Given the description of an element on the screen output the (x, y) to click on. 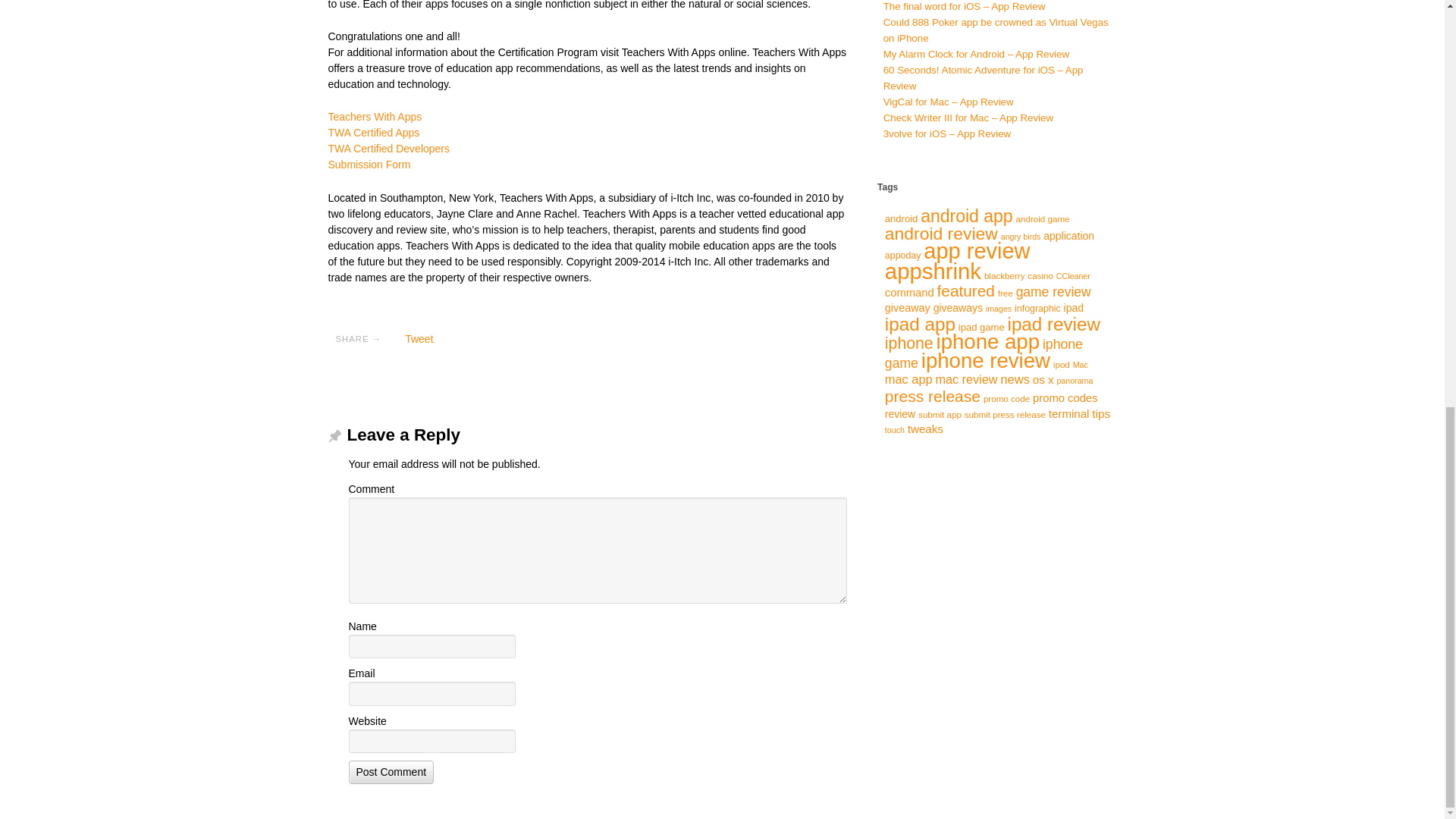
TWA Certified Developers (388, 148)
Post Comment (391, 771)
TWA Certified Developers (388, 148)
Submission Form (368, 164)
TWA Certified Apps (373, 132)
Tweet (418, 338)
Teachers With Apps (374, 116)
Submission Form (368, 164)
TWA Certified Apps (373, 132)
Post Comment (391, 771)
